Given the description of an element on the screen output the (x, y) to click on. 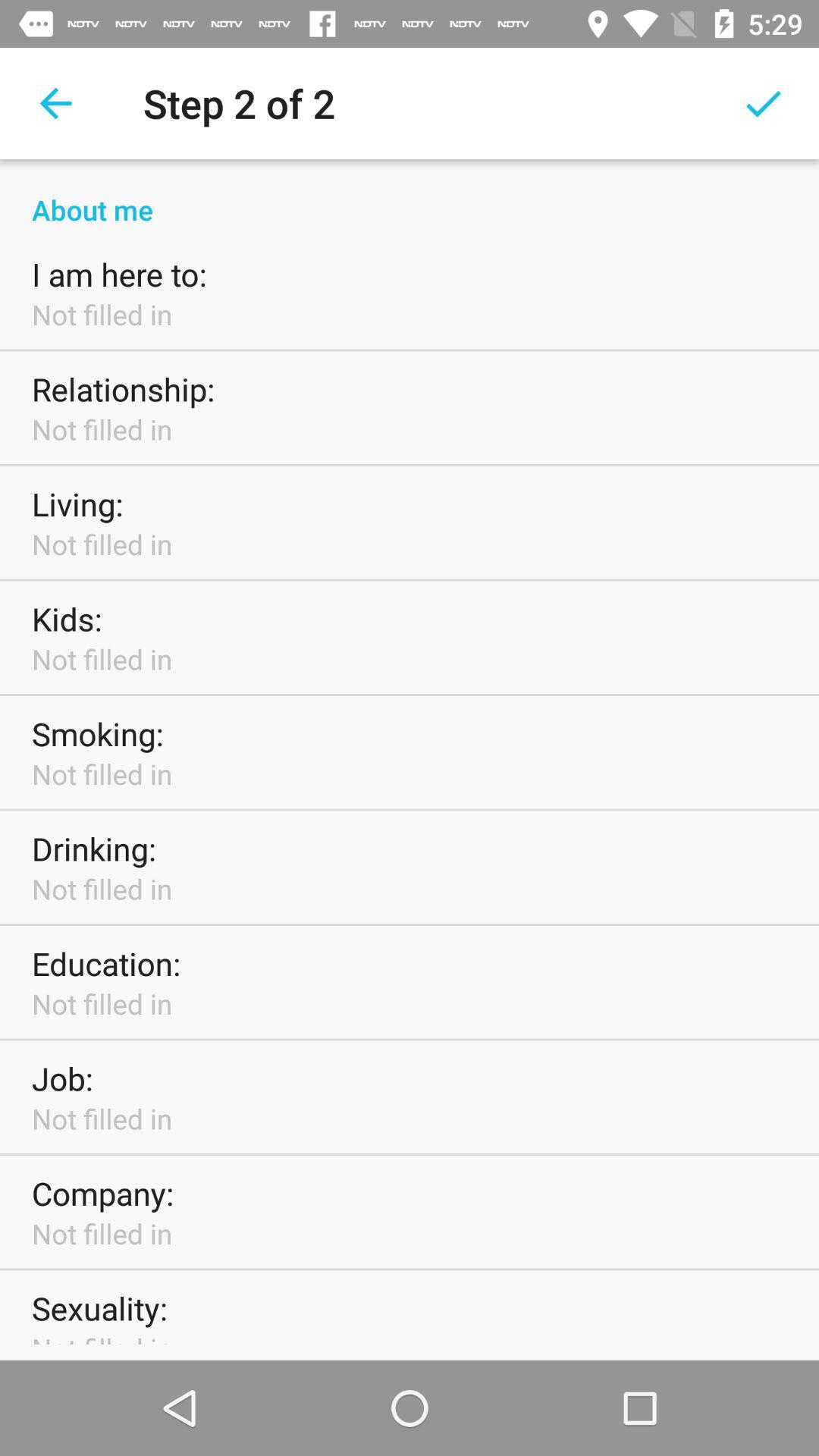
go back (55, 103)
